Given the description of an element on the screen output the (x, y) to click on. 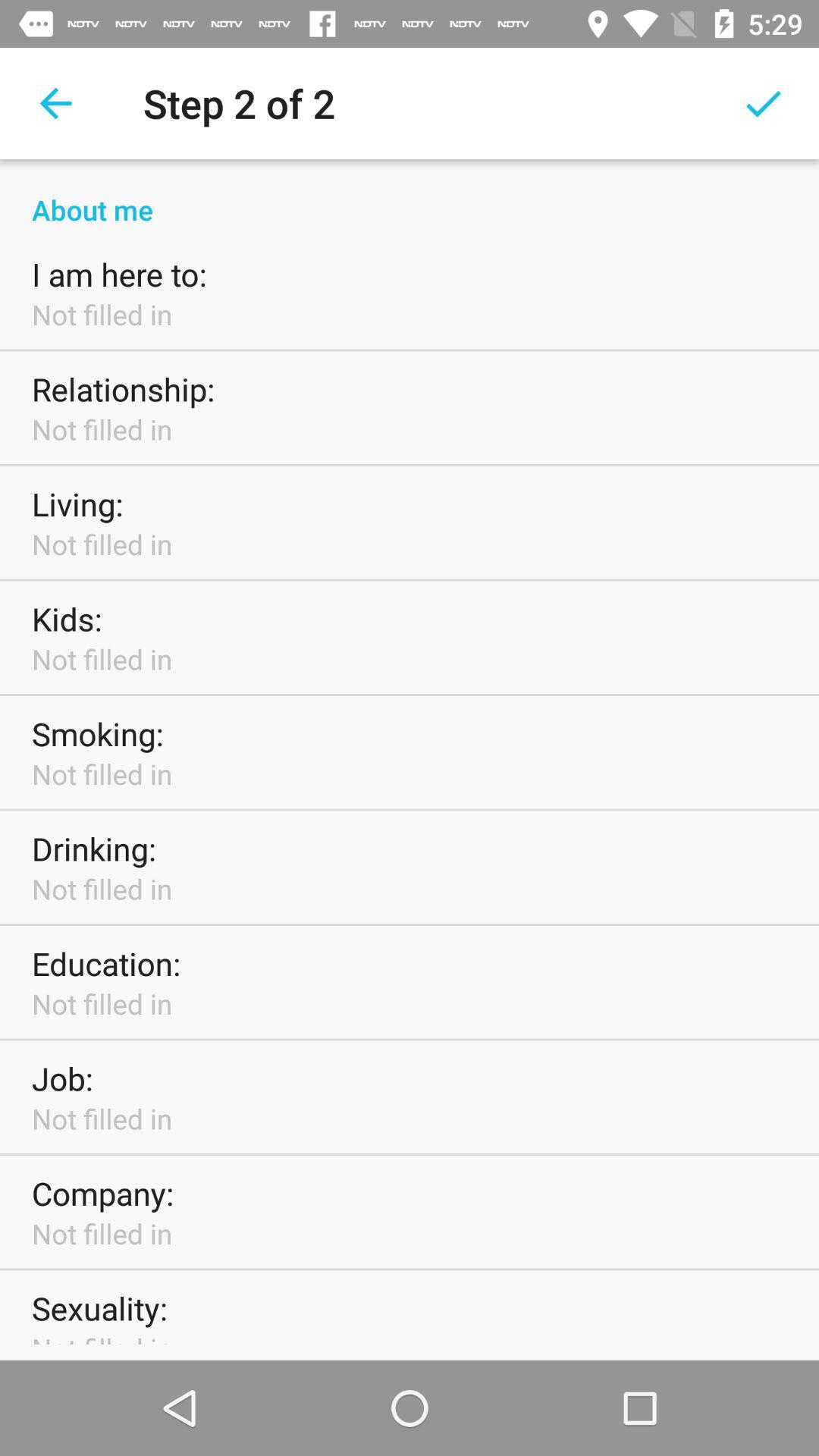
go back (55, 103)
